Given the description of an element on the screen output the (x, y) to click on. 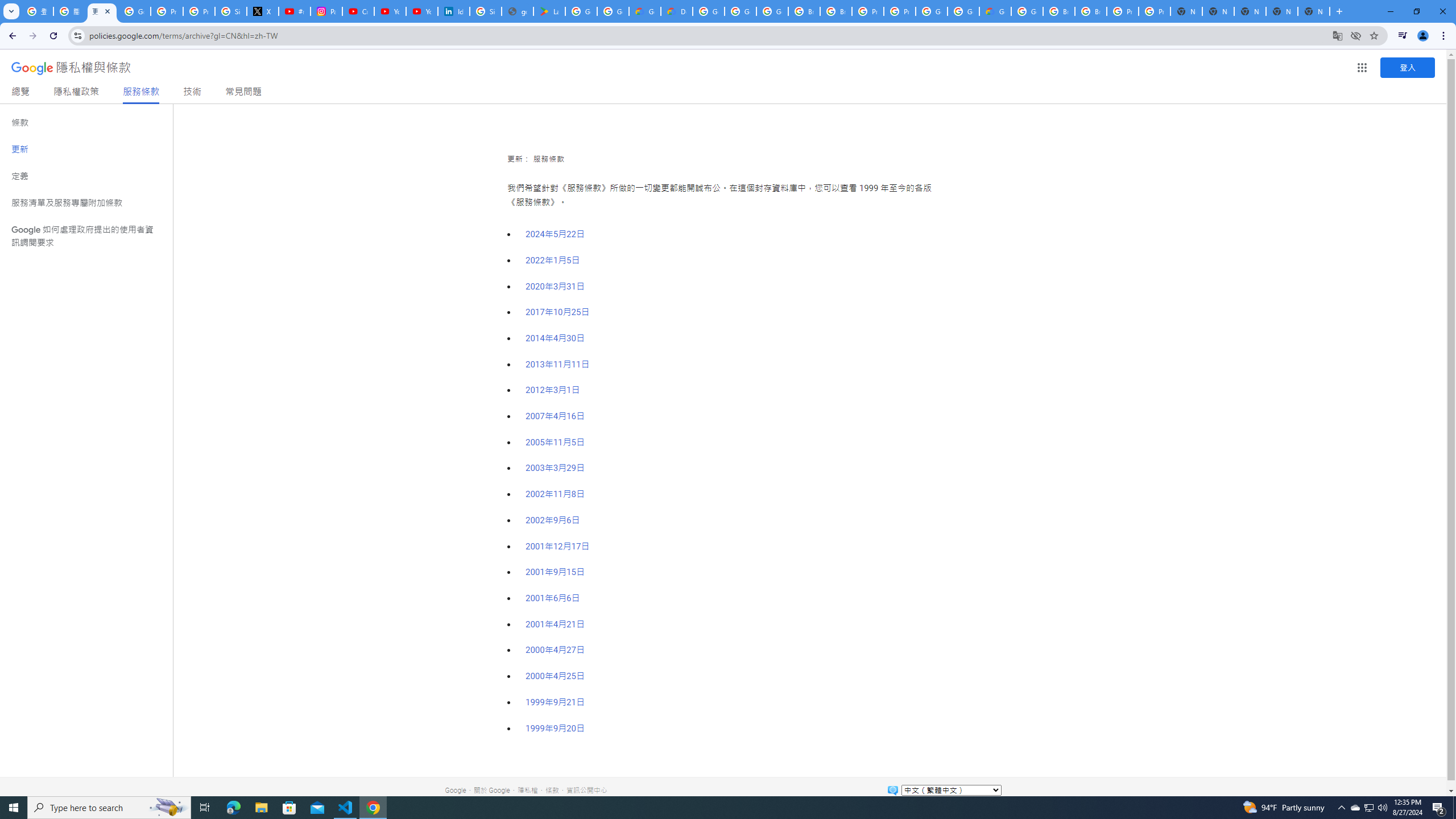
Privacy Help Center - Policies Help (198, 11)
Translate this page (1336, 35)
